Given the description of an element on the screen output the (x, y) to click on. 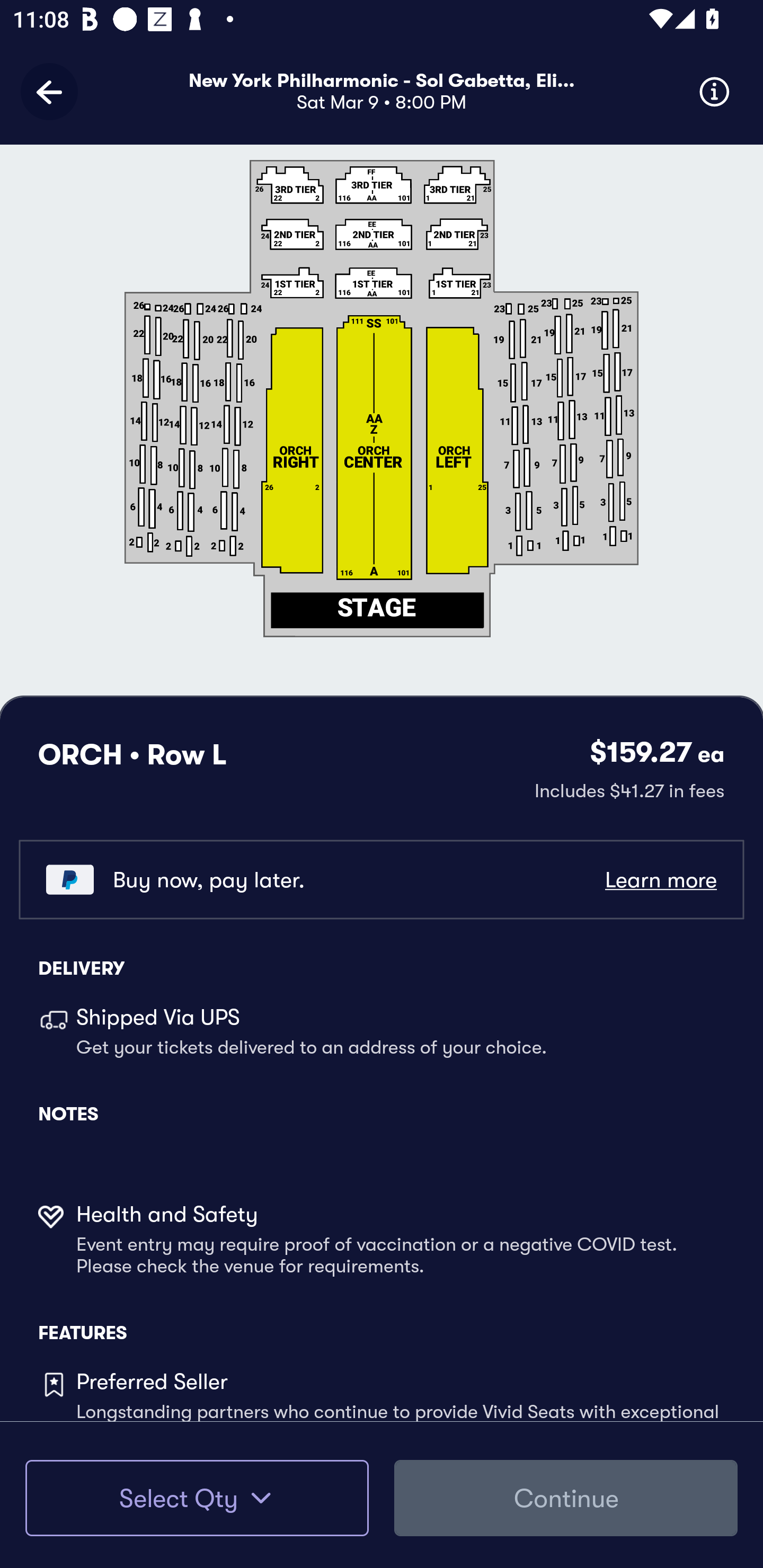
Learn more (660, 880)
Select Qty (196, 1497)
Continue (565, 1497)
